Given the description of an element on the screen output the (x, y) to click on. 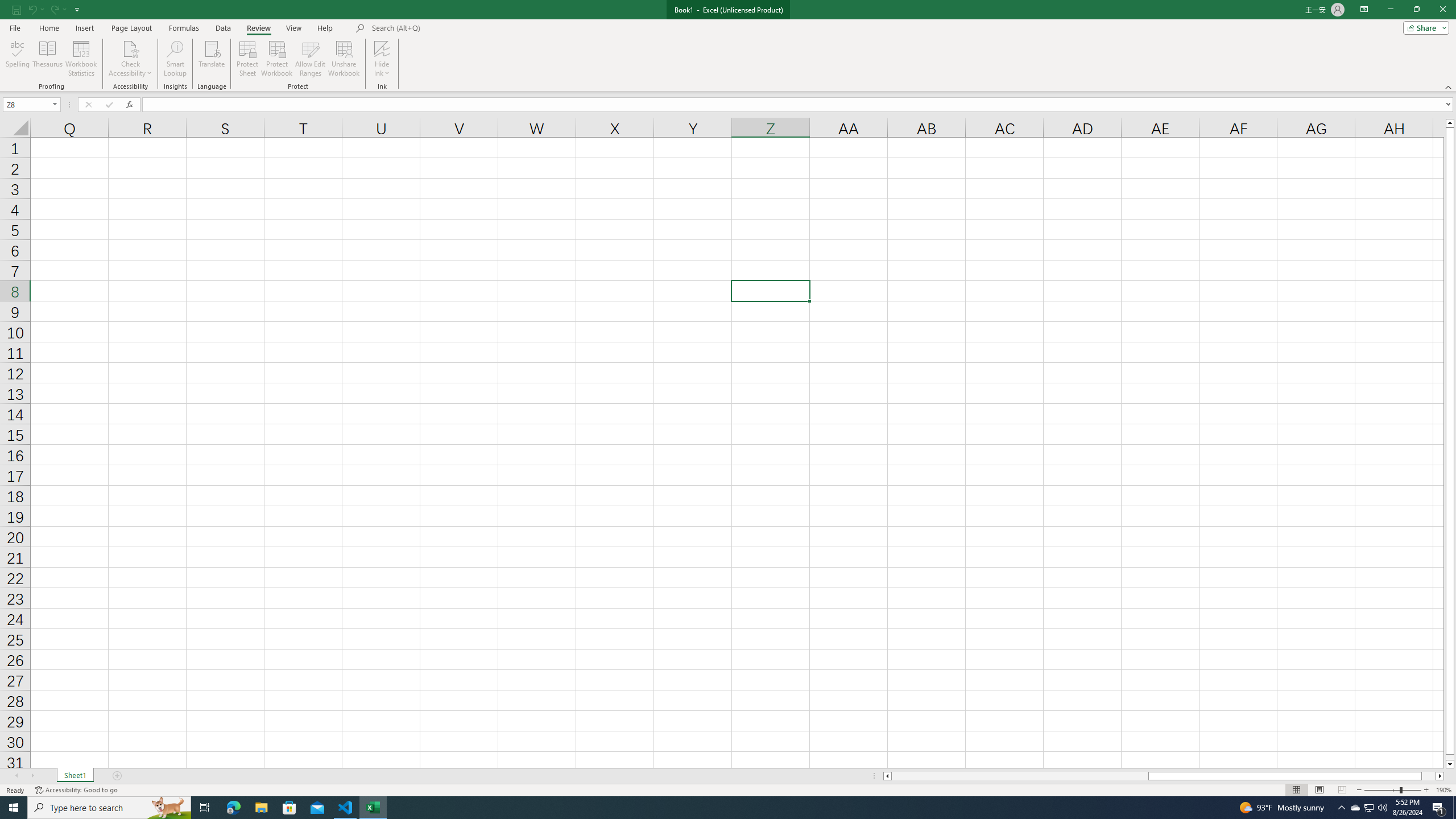
Thesaurus... (47, 58)
